Given the description of an element on the screen output the (x, y) to click on. 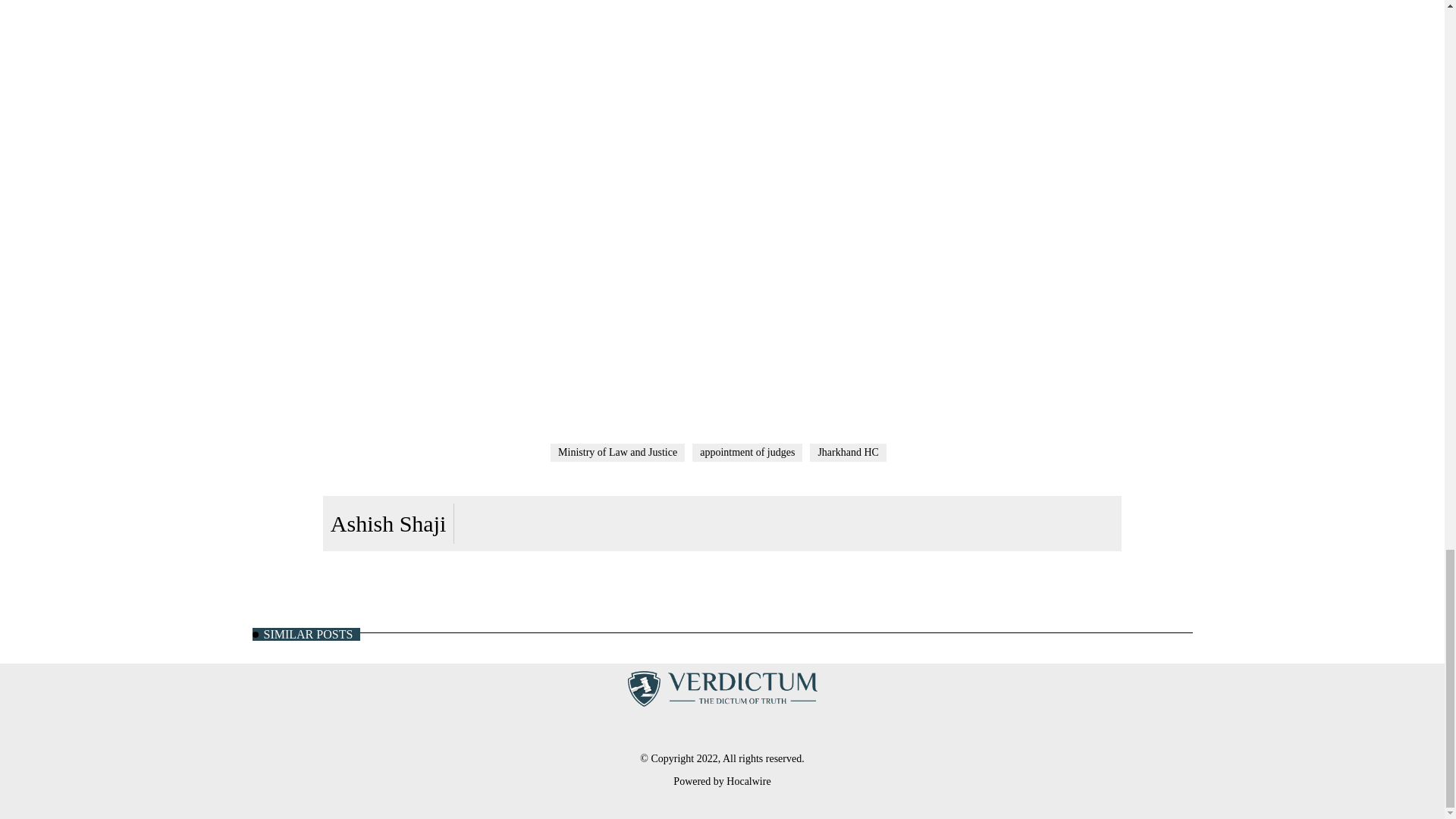
Verdictum (721, 687)
